Given the description of an element on the screen output the (x, y) to click on. 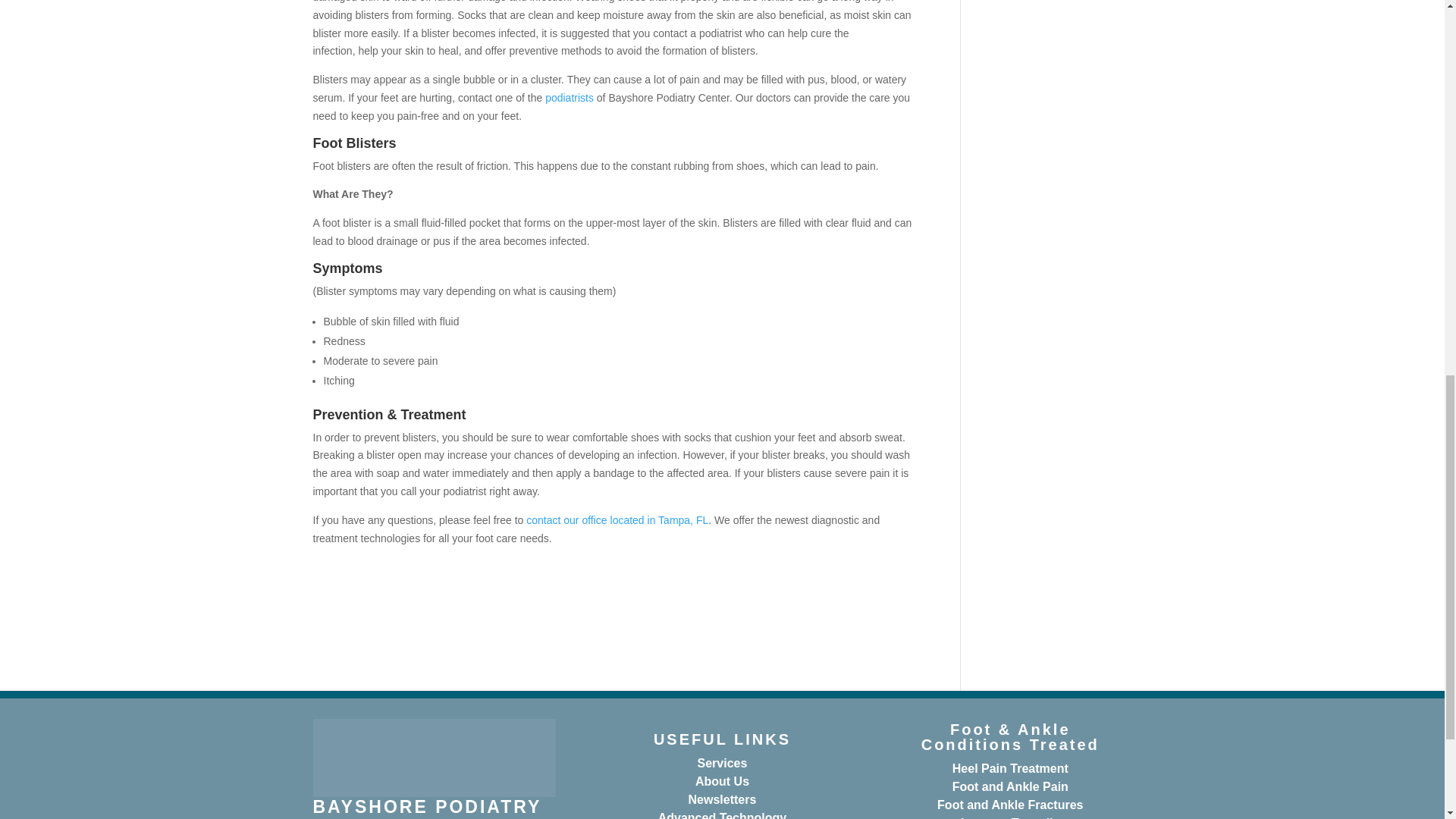
podiatrists (569, 97)
contact our office located in Tampa, FL (616, 520)
Services (722, 762)
About Us (722, 780)
